Given the description of an element on the screen output the (x, y) to click on. 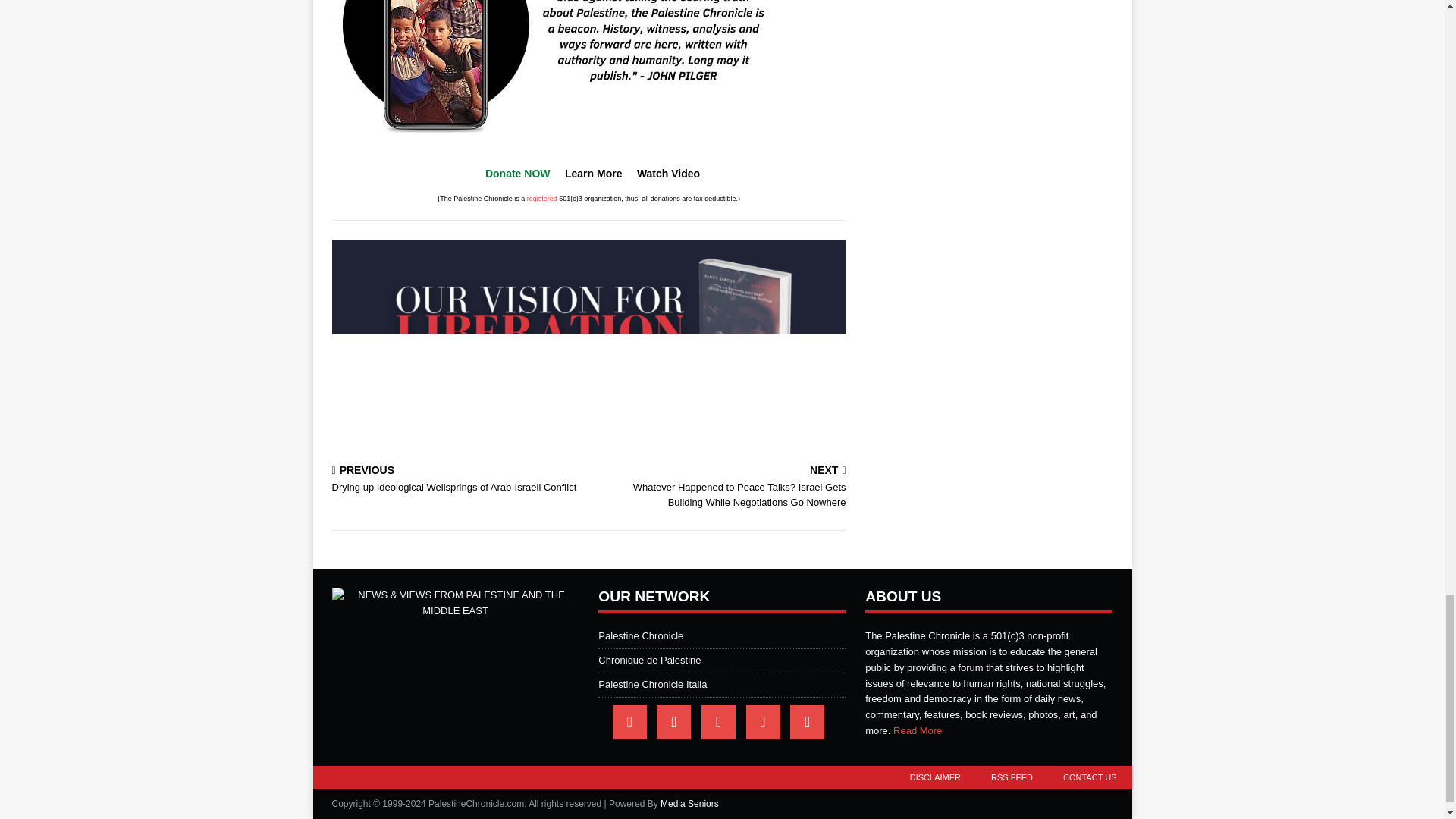
Donate NOW (517, 173)
Learn More (592, 173)
Watch Video (668, 173)
registered (542, 198)
